Given the description of an element on the screen output the (x, y) to click on. 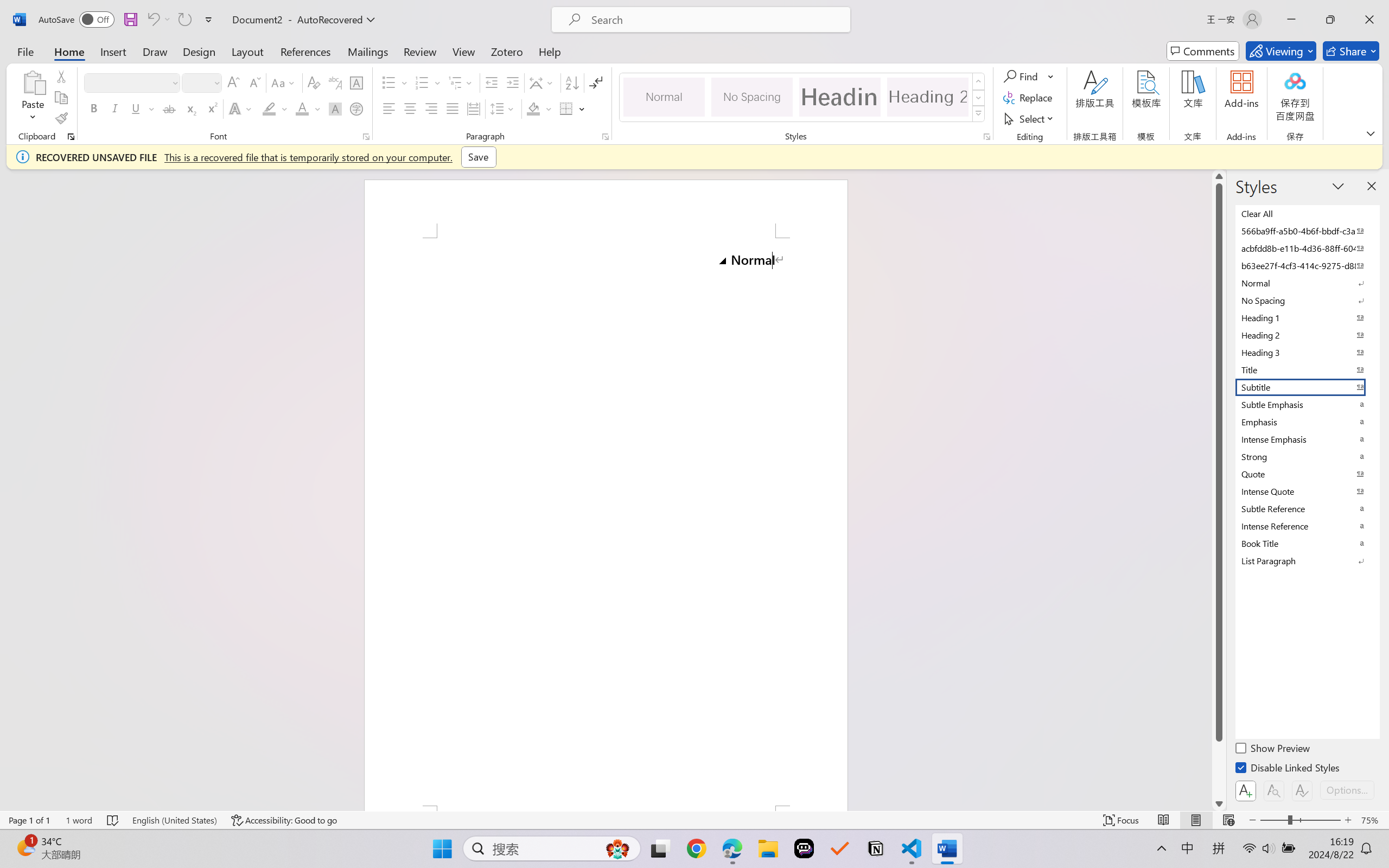
Open (215, 82)
Multilevel List (461, 82)
Character Shading (334, 108)
Asian Layout (542, 82)
Styles (978, 113)
Line down (1219, 803)
Zoom 75% (1372, 819)
Line up (1219, 176)
